Given the description of an element on the screen output the (x, y) to click on. 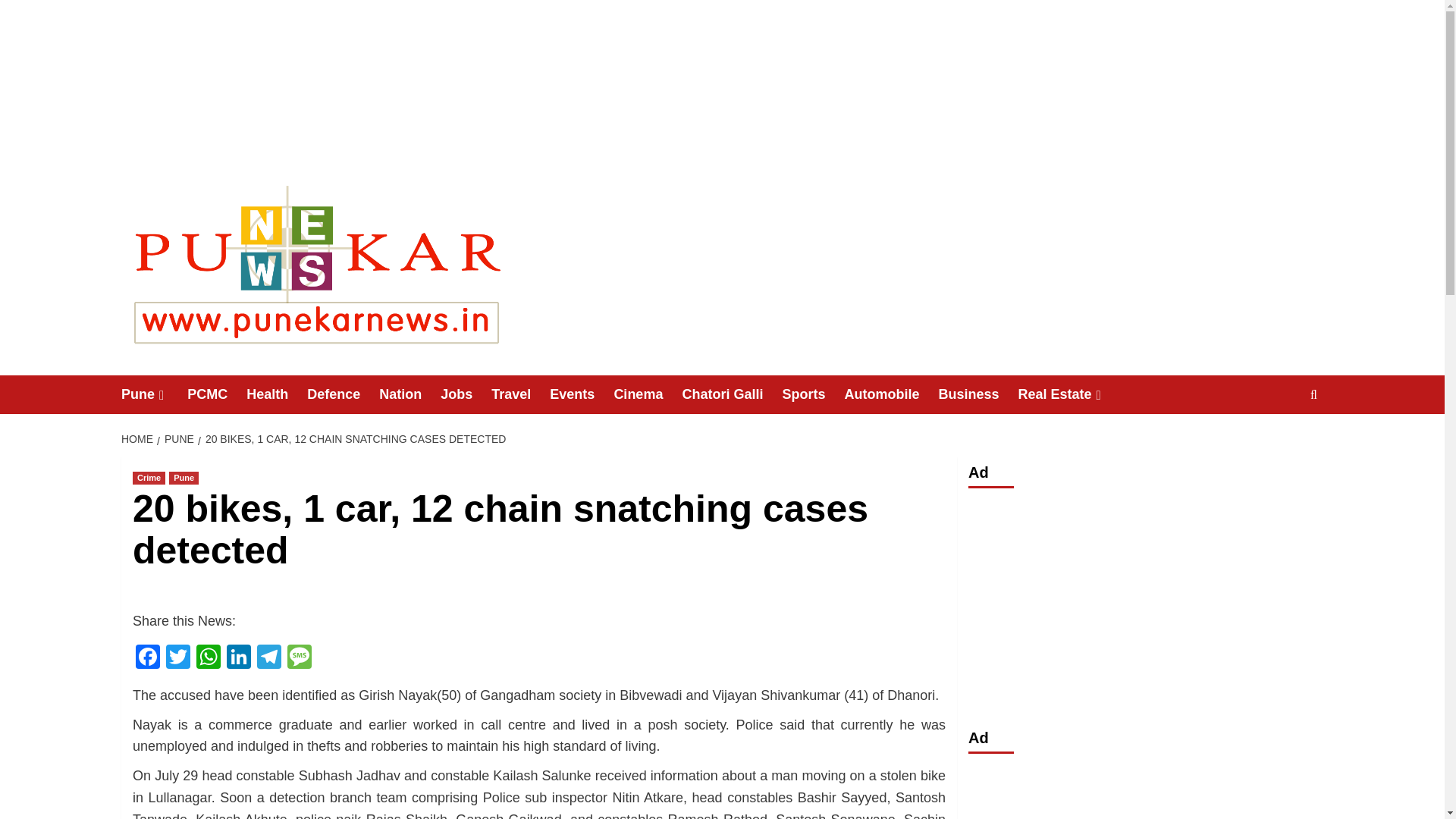
WhatsApp (208, 658)
Business (977, 394)
Events (581, 394)
PCMC (216, 394)
Telegram (268, 658)
Nation (409, 394)
HOME (138, 439)
Facebook (147, 658)
Health (276, 394)
